Given the description of an element on the screen output the (x, y) to click on. 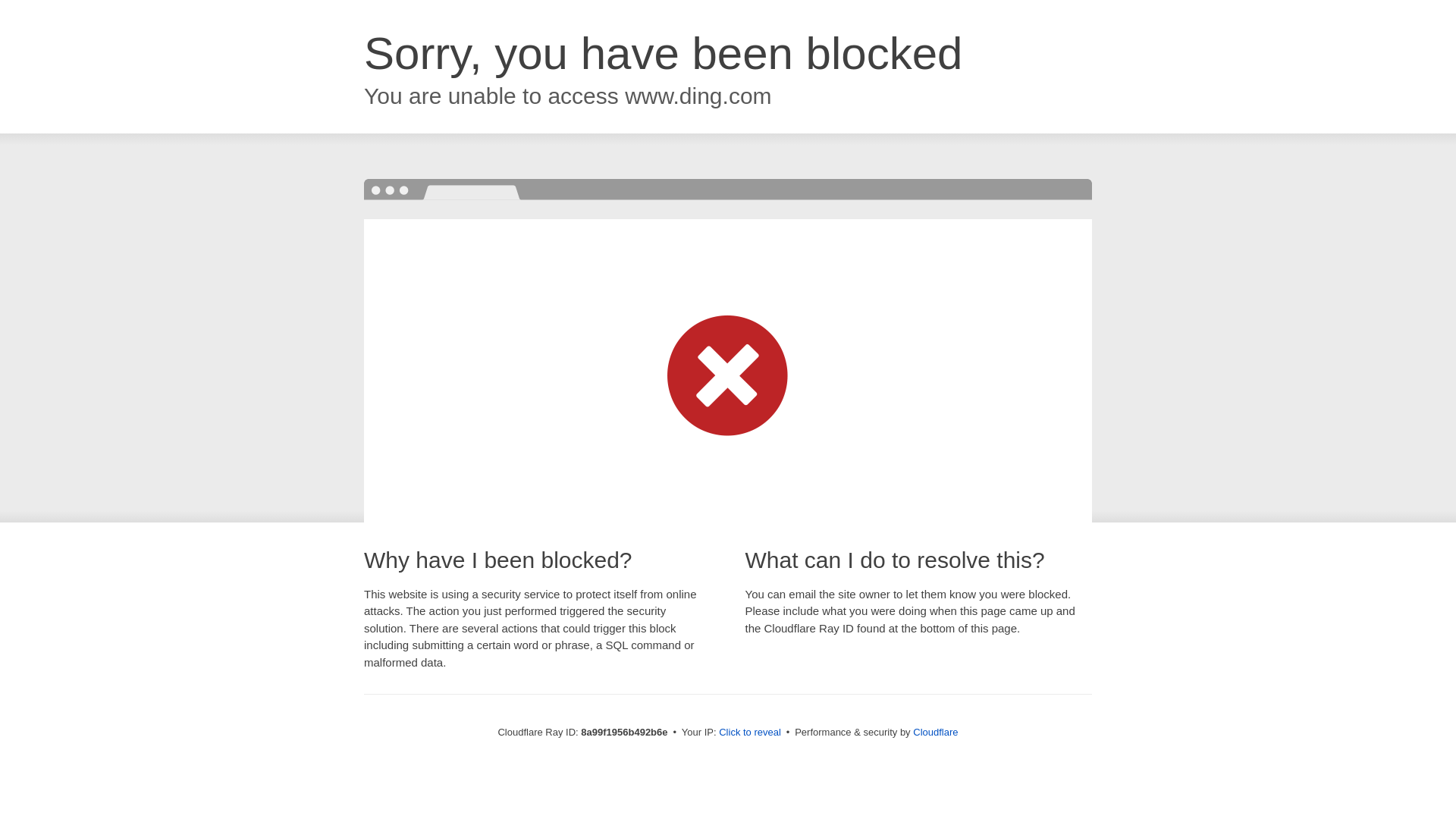
Click to reveal (749, 732)
Cloudflare (935, 731)
